Given the description of an element on the screen output the (x, y) to click on. 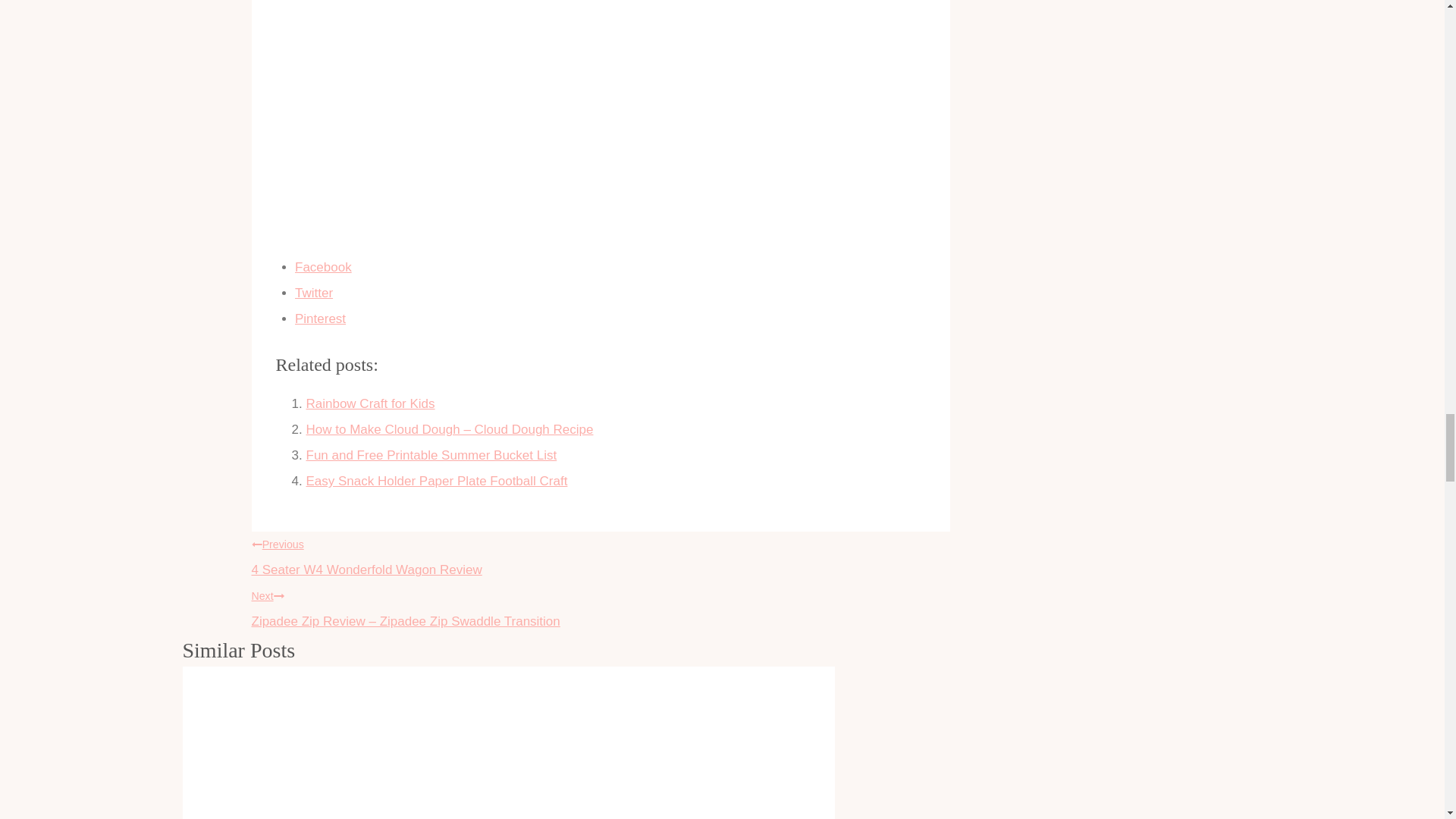
Facebook (610, 267)
Rainbow Craft for Kids (370, 403)
Rainbow Craft for Kids (600, 554)
Fun and Free Printable Summer Bucket List (370, 403)
Twitter (431, 454)
Easy Snack Holder Paper Plate Football Craft (610, 293)
Pinterest (436, 481)
Fun and Free Printable Summer Bucket List (610, 319)
Easy Snack Holder Paper Plate Football Craft (431, 454)
